Given the description of an element on the screen output the (x, y) to click on. 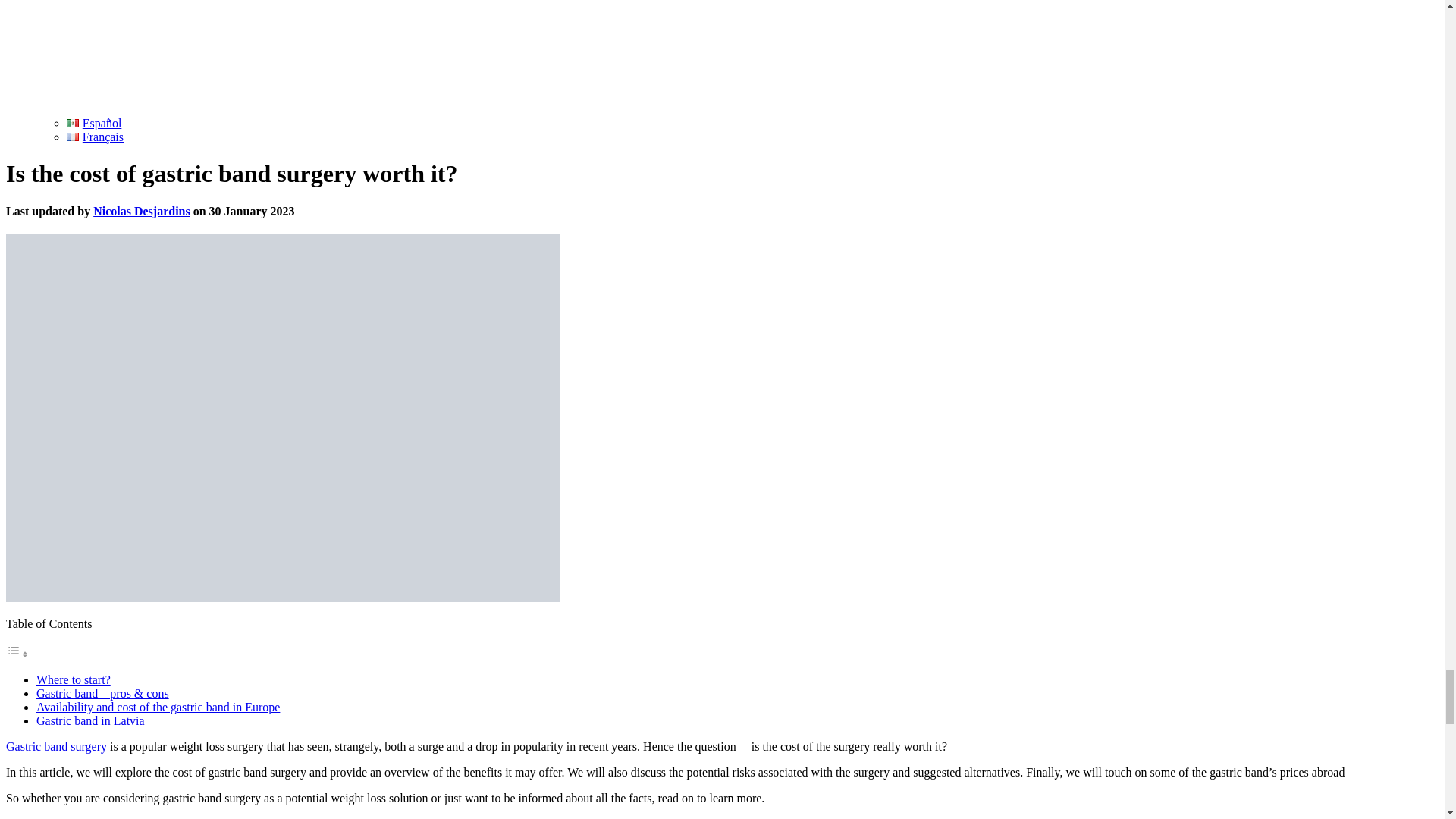
Gastric band surgery (55, 746)
Where to start? (73, 679)
Availability and cost of the gastric band in Europe (157, 707)
Gastric band in Latvia (90, 720)
Nicolas Desjardins (141, 210)
